Given the description of an element on the screen output the (x, y) to click on. 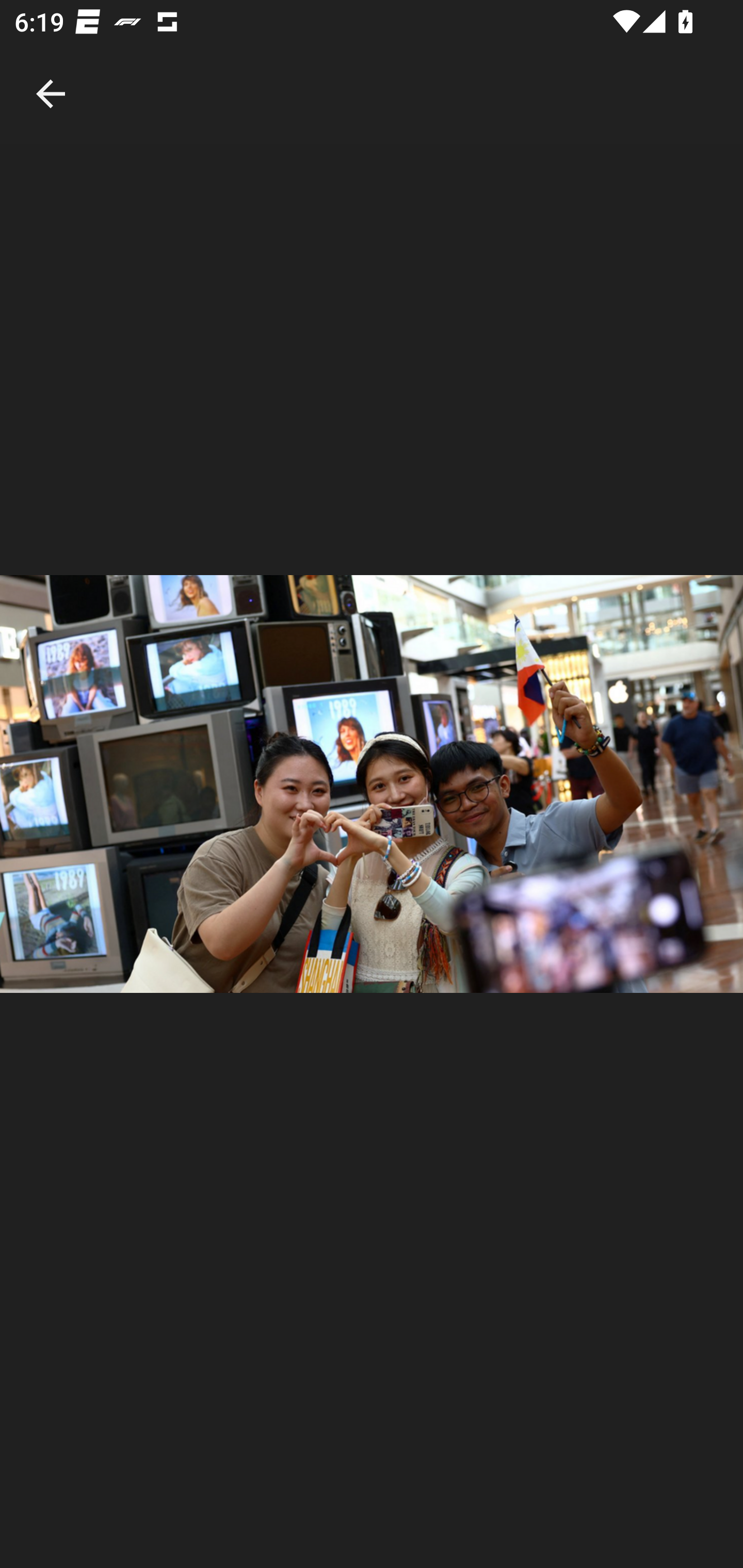
Back (50, 72)
